Given the description of an element on the screen output the (x, y) to click on. 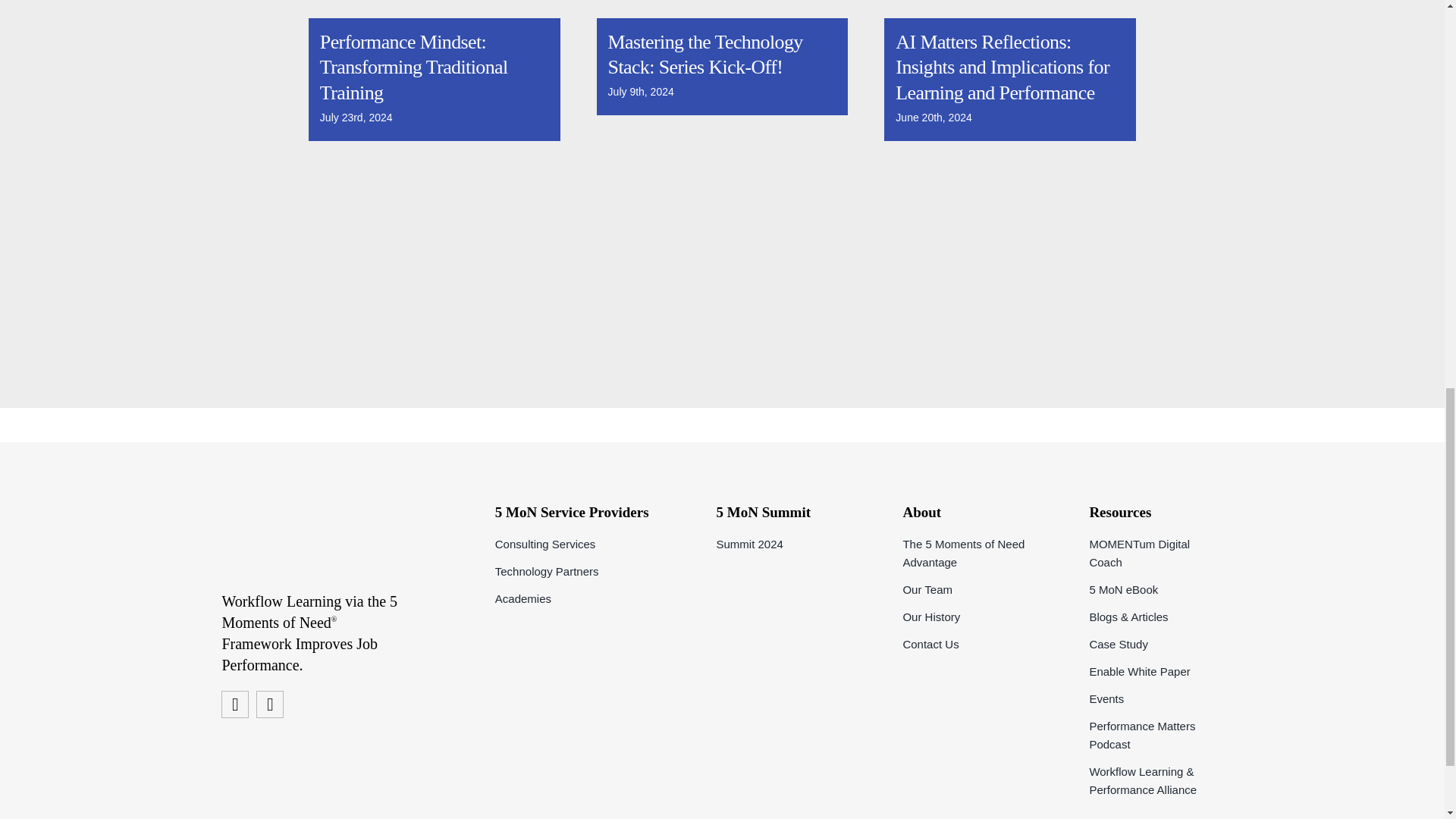
YouTube (234, 704)
Mastering the Technology Stack: Series Kick-Off! (705, 54)
LinkedIn (269, 704)
Performance Mindset: Transforming Traditional Training (414, 67)
